Given the description of an element on the screen output the (x, y) to click on. 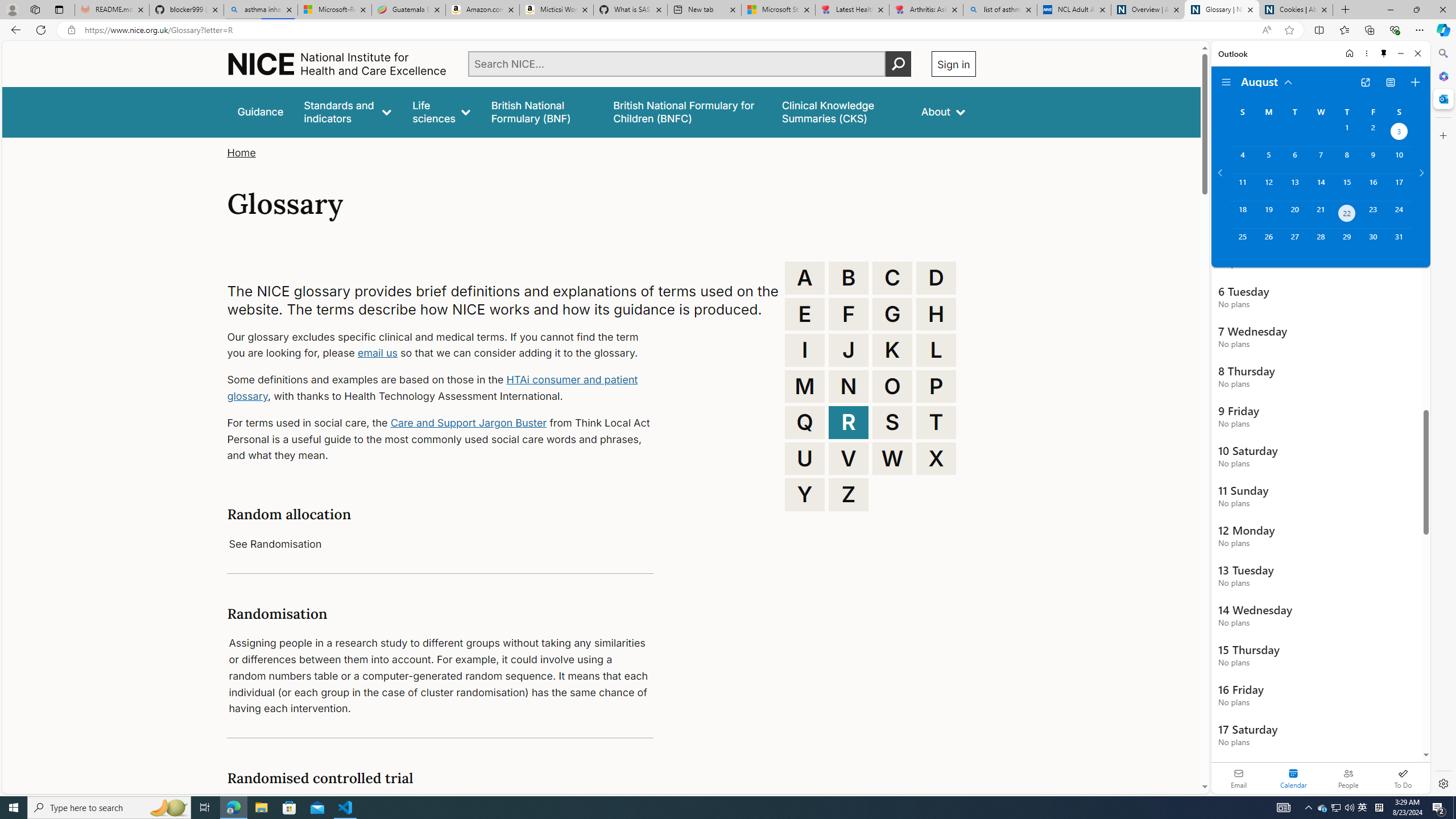
F (848, 313)
R (848, 422)
L (935, 350)
Thursday, August 15, 2024.  (1346, 186)
Personal Profile (12, 9)
Selected calendar module. Date today is 22 (1293, 777)
M (804, 385)
Add this page to favorites (Ctrl+D) (1289, 29)
Read aloud this page (Ctrl+Shift+U) (1266, 29)
Home (241, 152)
